Given the description of an element on the screen output the (x, y) to click on. 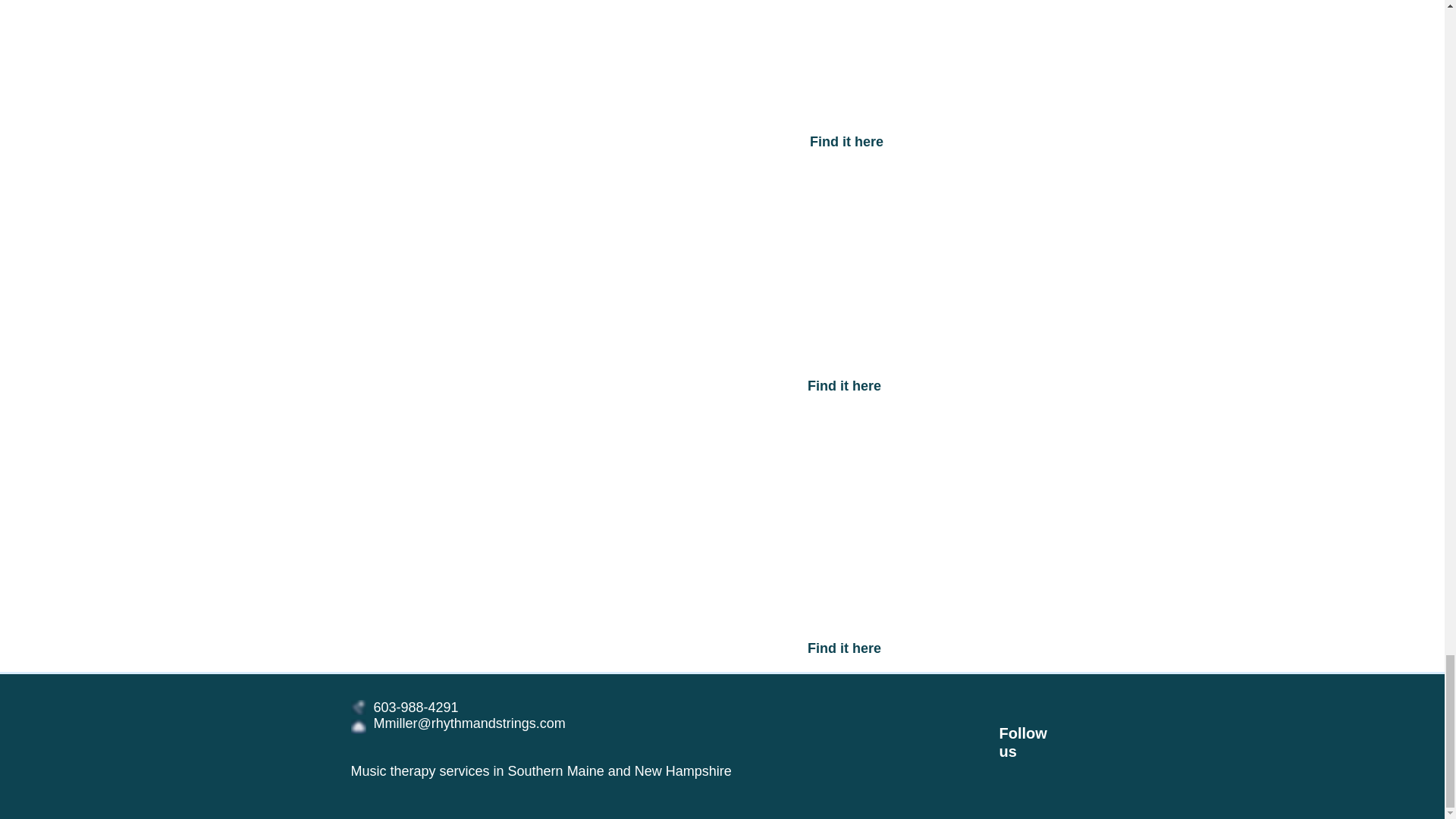
Find it here (847, 142)
Find it here (844, 648)
Find it here (844, 386)
